Given the description of an element on the screen output the (x, y) to click on. 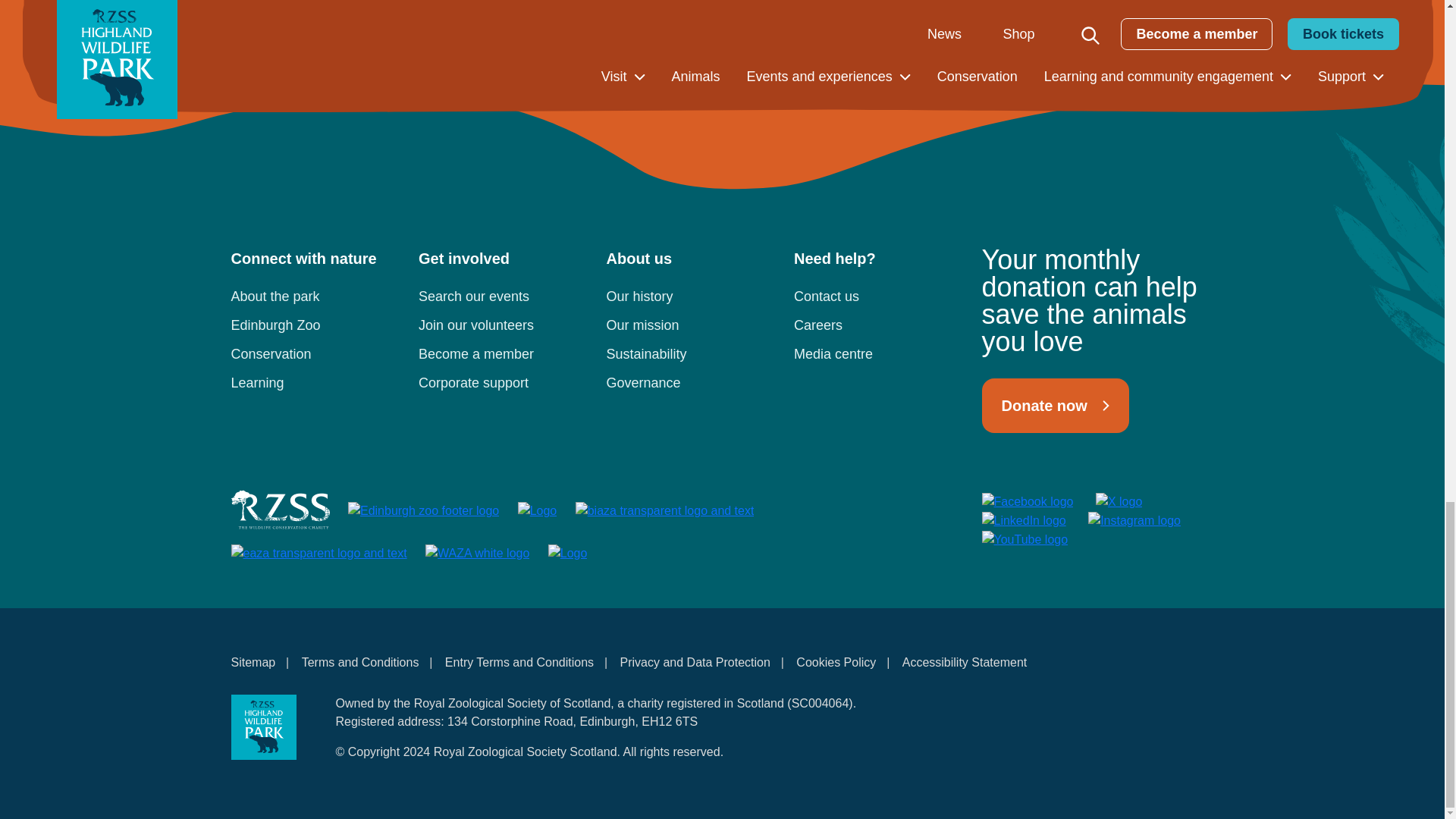
RZSS Corporate Support (503, 386)
RZSS Volunteers (503, 328)
About Highland Wildlife Park (315, 299)
RZSS Sustainability (691, 357)
RZSS Conservation (315, 357)
Highland Wildlife Park Events (503, 299)
RZSS Board (691, 386)
RZSS History (691, 299)
RZSS Contacts (878, 299)
RZSS Mission (691, 328)
